Given the description of an element on the screen output the (x, y) to click on. 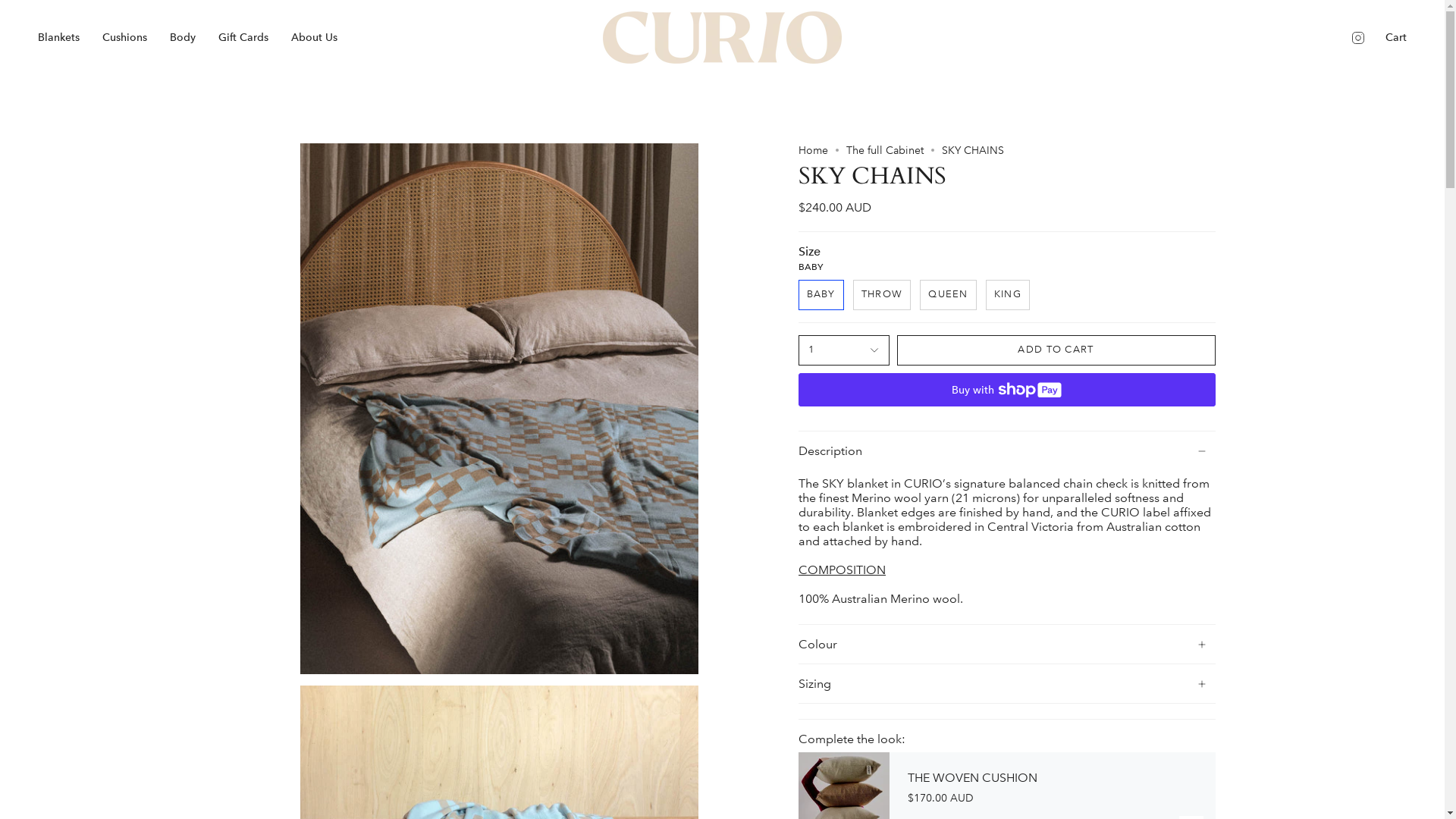
Instagram Element type: text (1357, 36)
About Us Element type: text (313, 37)
Gift Cards Element type: text (243, 37)
ADD TO CART Element type: text (1055, 350)
Cart Element type: text (1396, 37)
Body Element type: text (182, 37)
Cushions Element type: text (124, 37)
Home Element type: text (812, 149)
1 Element type: text (842, 350)
THE WOVEN CUSHION
$170.00 AUD Element type: text (1037, 787)
Blankets Element type: text (58, 37)
The full Cabinet Element type: text (884, 149)
